Given the description of an element on the screen output the (x, y) to click on. 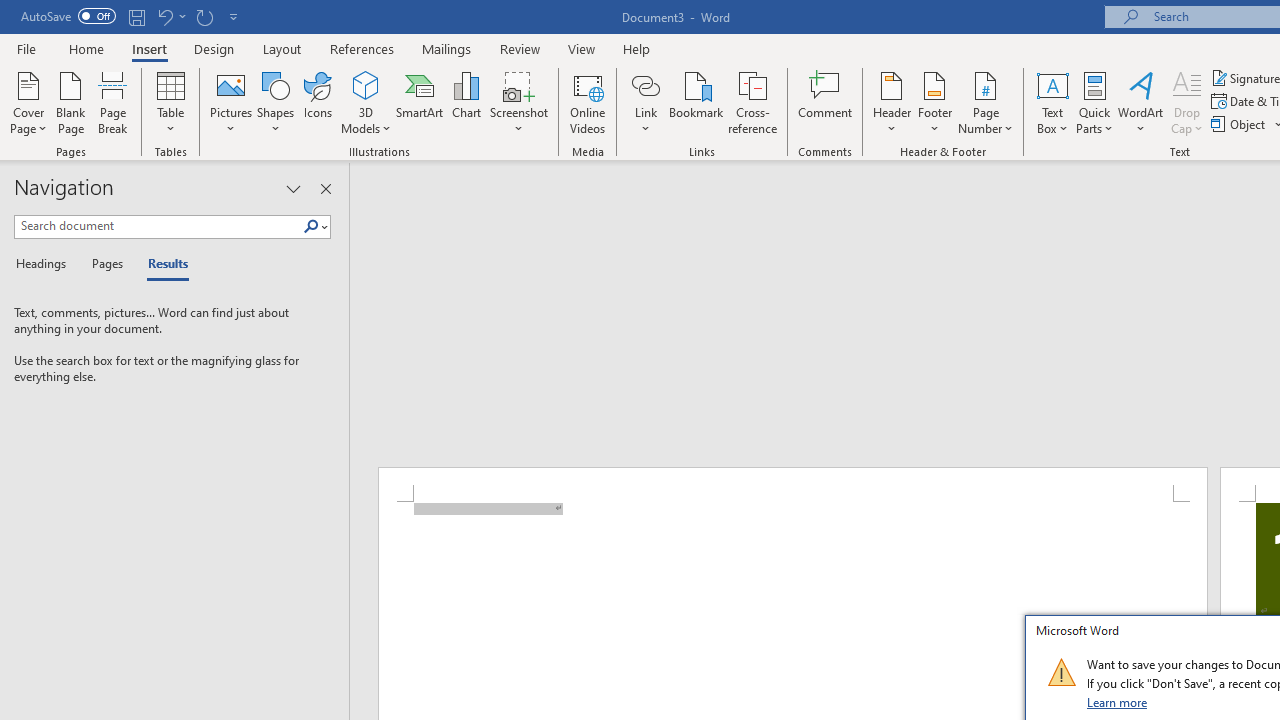
3D Models (366, 84)
3D Models (366, 102)
Chart... (466, 102)
Page Break (113, 102)
Undo New Page (164, 15)
Blank Page (70, 102)
Table (170, 102)
Undo New Page (170, 15)
Object... (1240, 124)
